Given the description of an element on the screen output the (x, y) to click on. 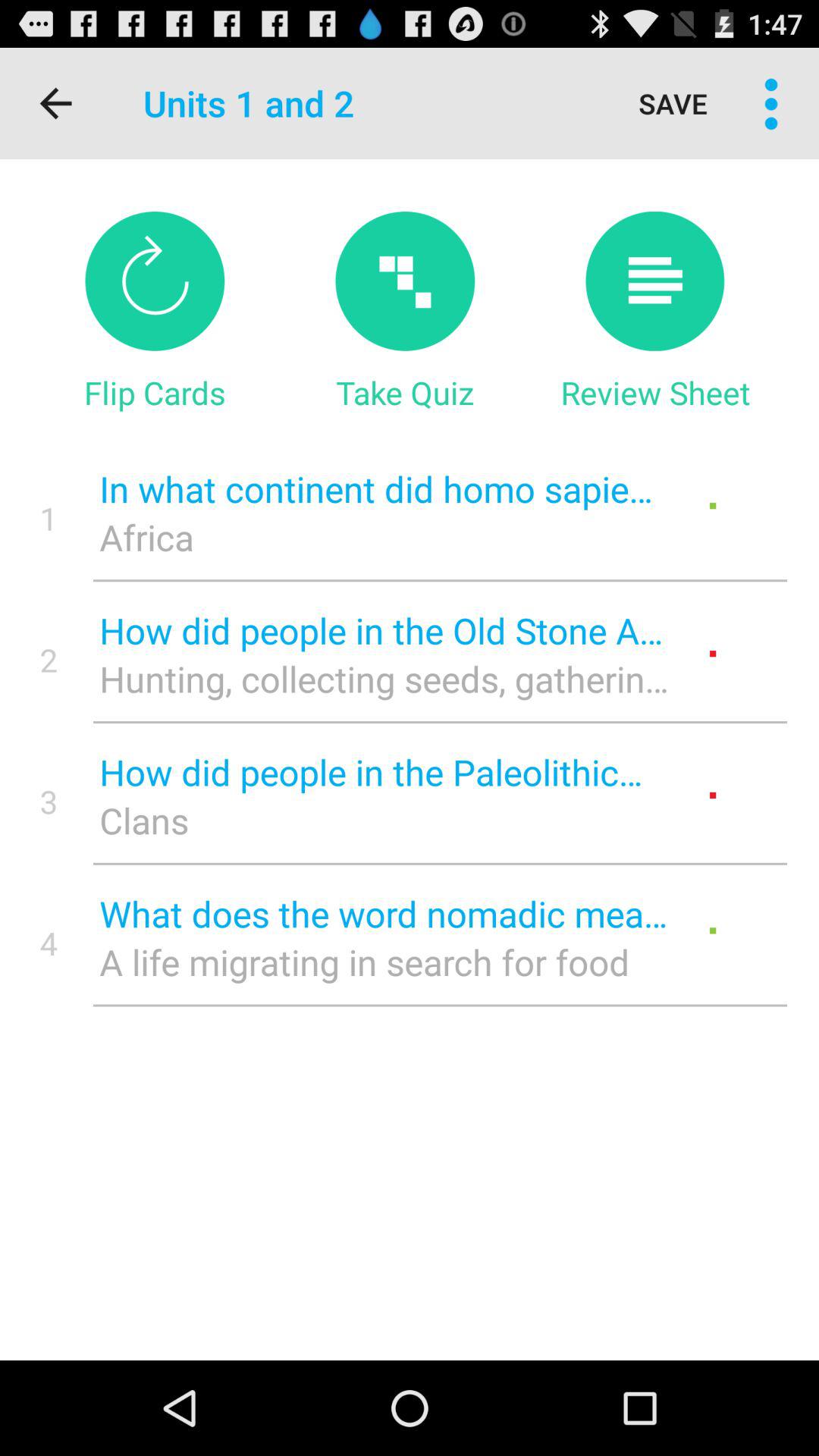
take quiz (404, 280)
